Given the description of an element on the screen output the (x, y) to click on. 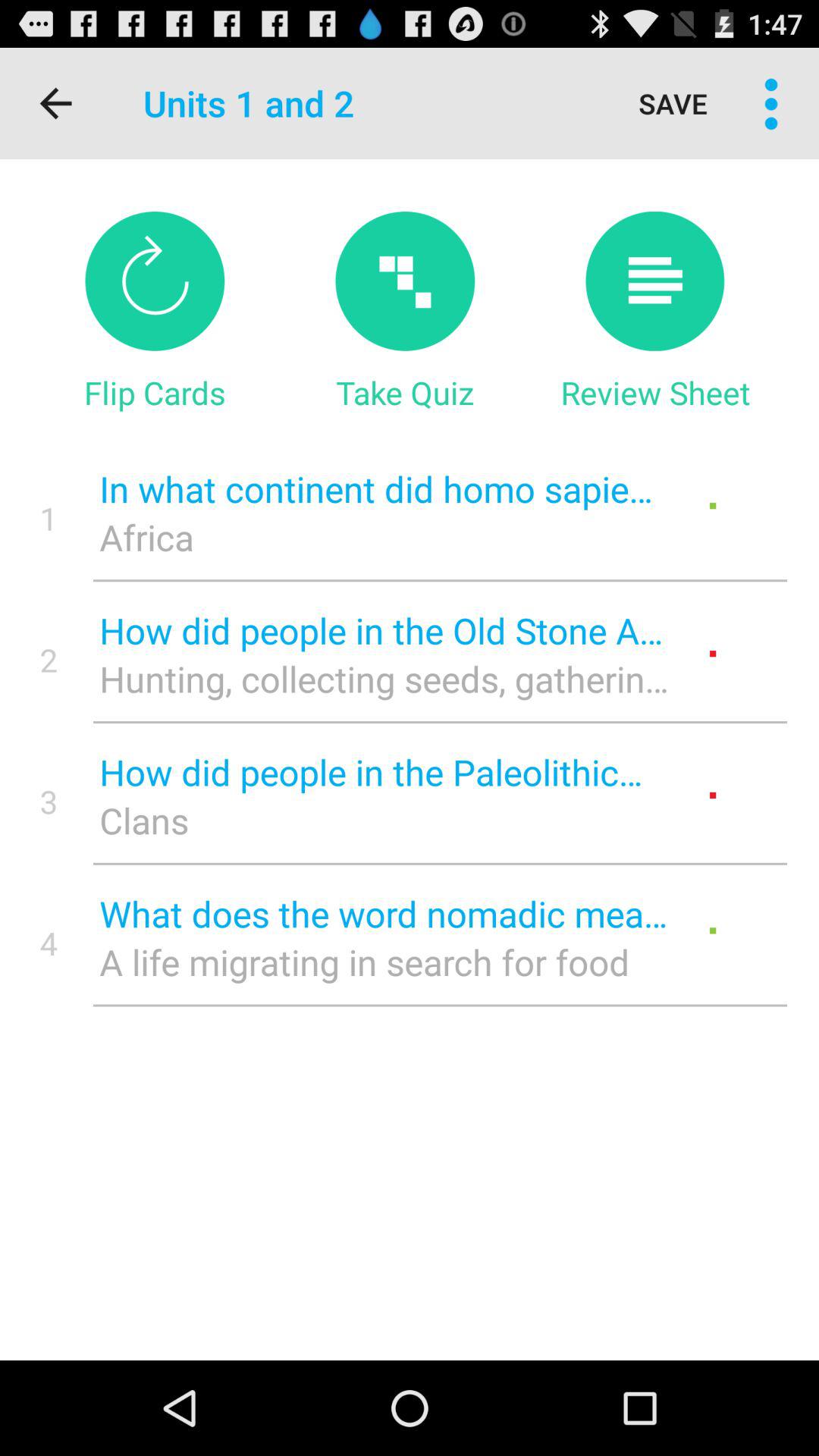
take quiz (404, 280)
